Given the description of an element on the screen output the (x, y) to click on. 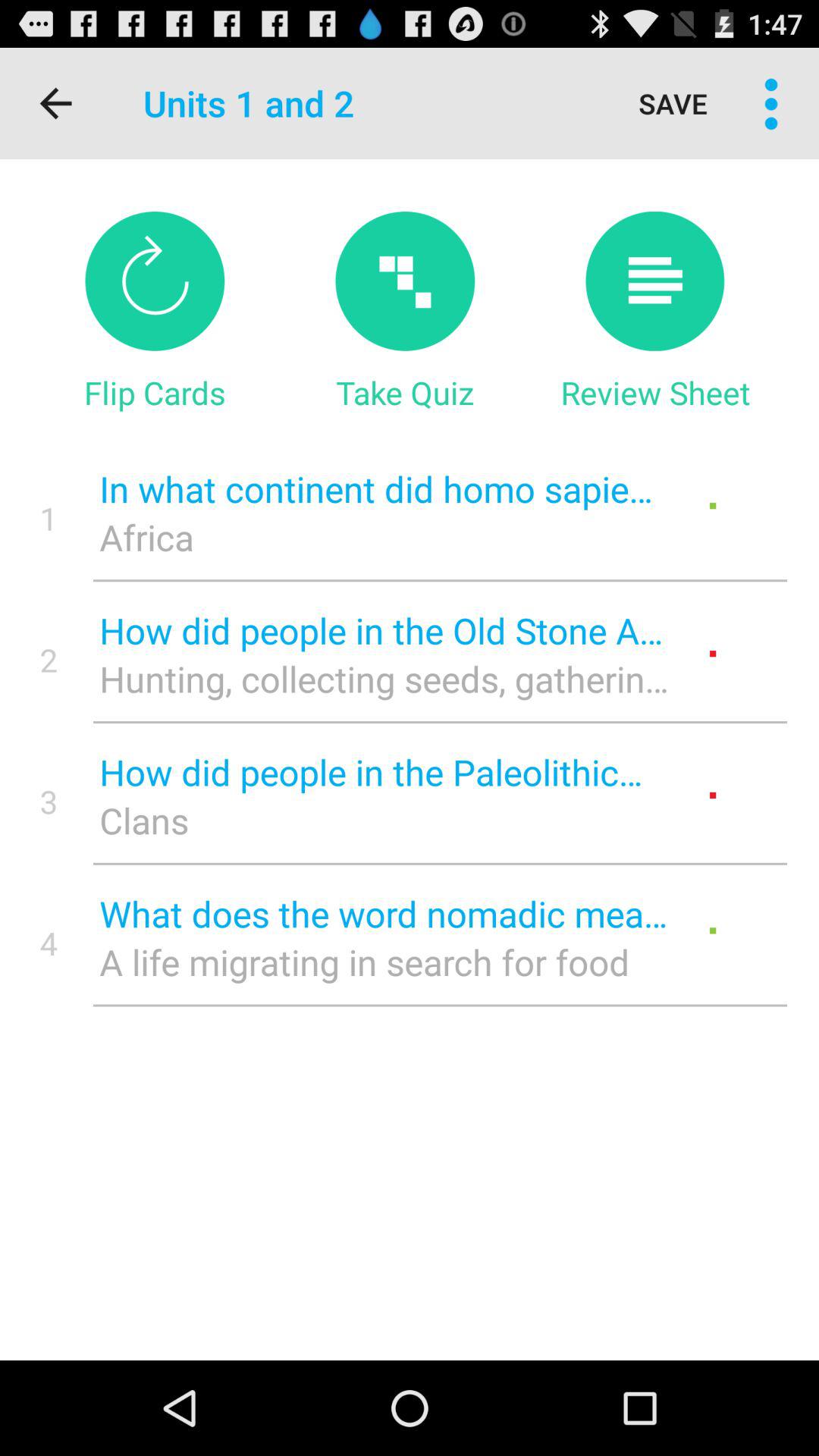
take quiz (404, 280)
